Given the description of an element on the screen output the (x, y) to click on. 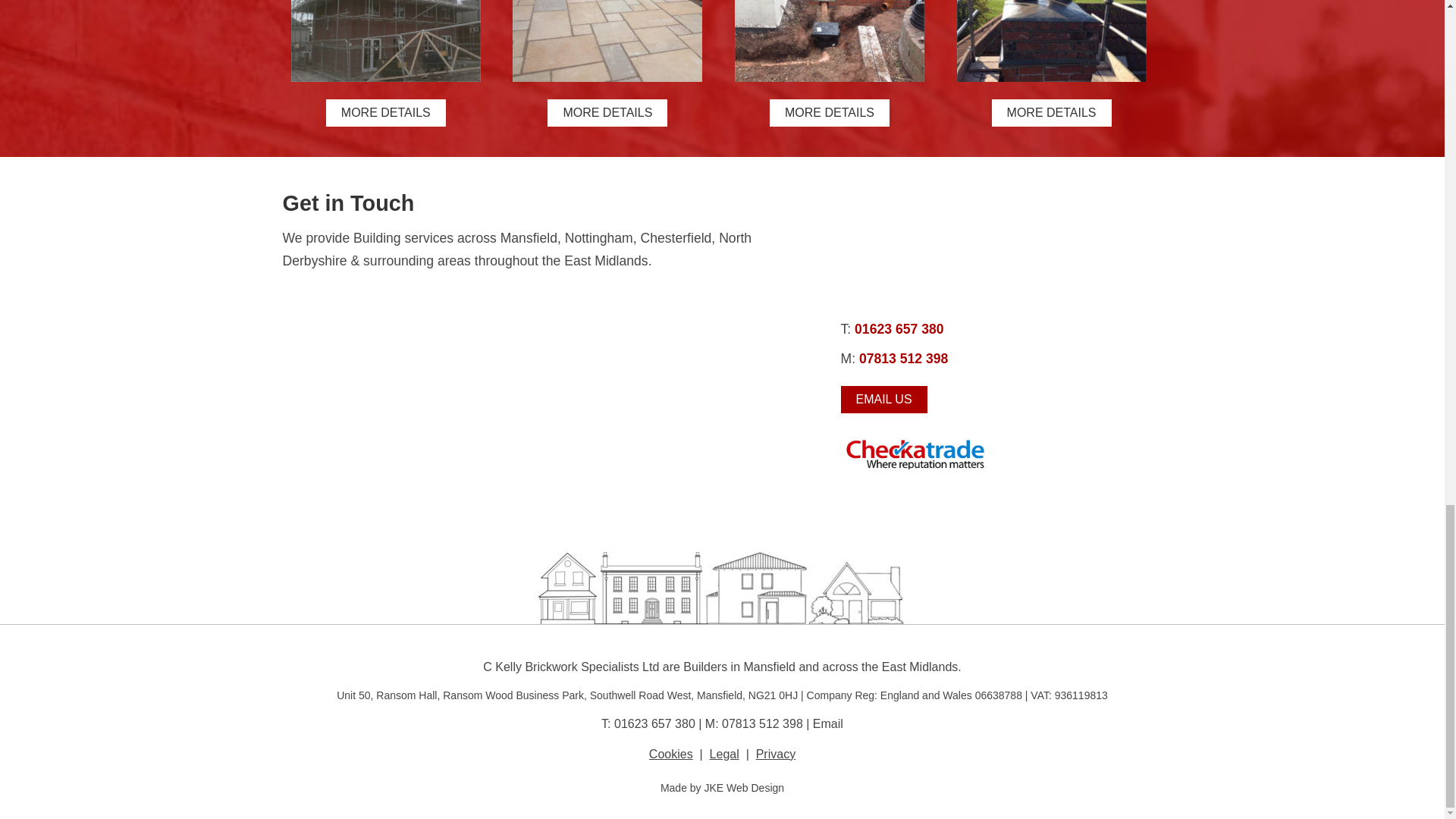
MORE DETAILS (385, 112)
JKE Web Design (743, 787)
MORE DETAILS (606, 112)
MORE DETAILS (1051, 112)
Cookies (671, 753)
Checkatrade (915, 453)
Legal (724, 753)
MORE DETAILS (829, 112)
Privacy (774, 753)
EMAIL US (883, 399)
